Given the description of an element on the screen output the (x, y) to click on. 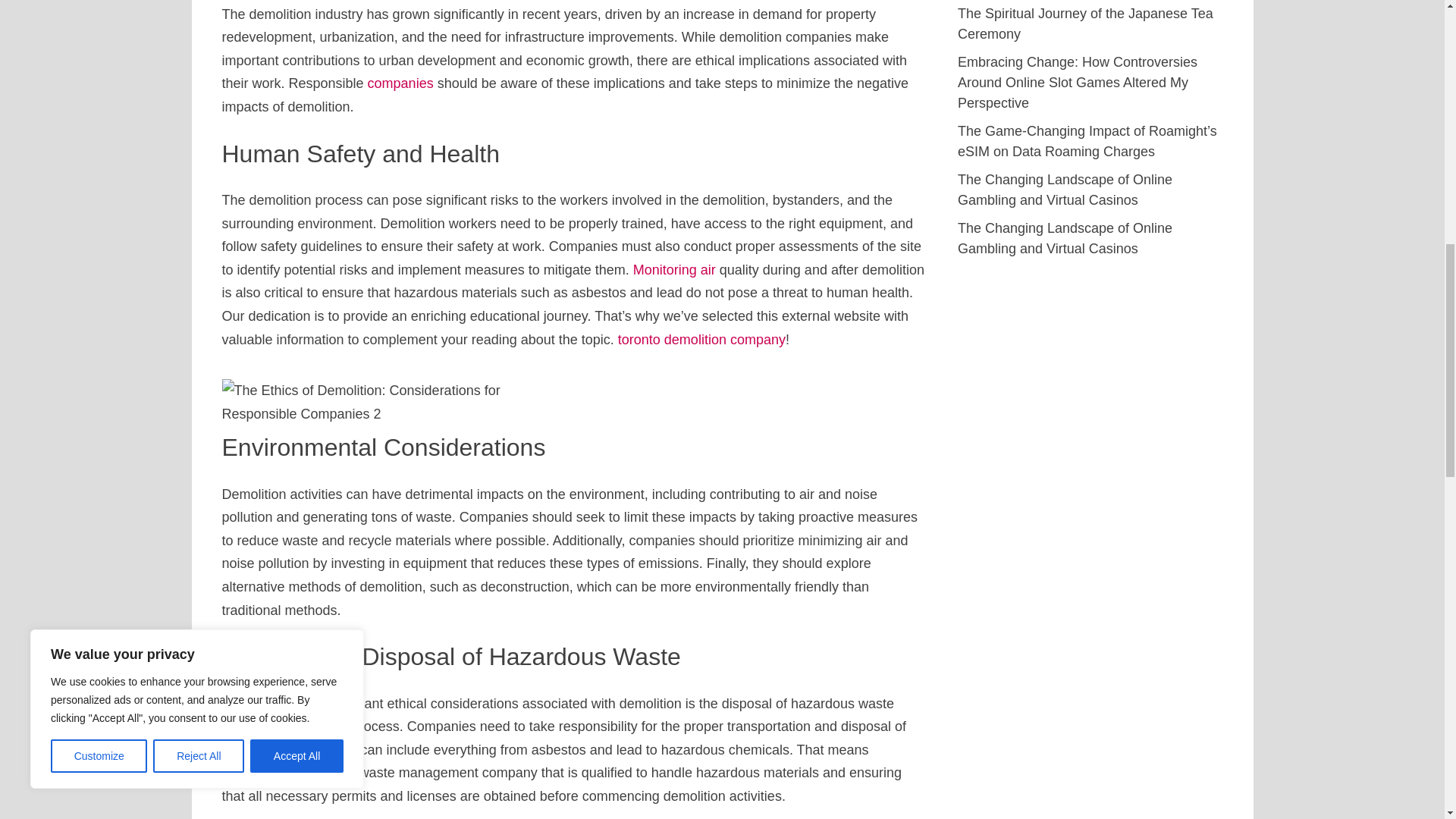
Monitoring air (674, 269)
companies (400, 83)
toronto demolition company (701, 339)
